Given the description of an element on the screen output the (x, y) to click on. 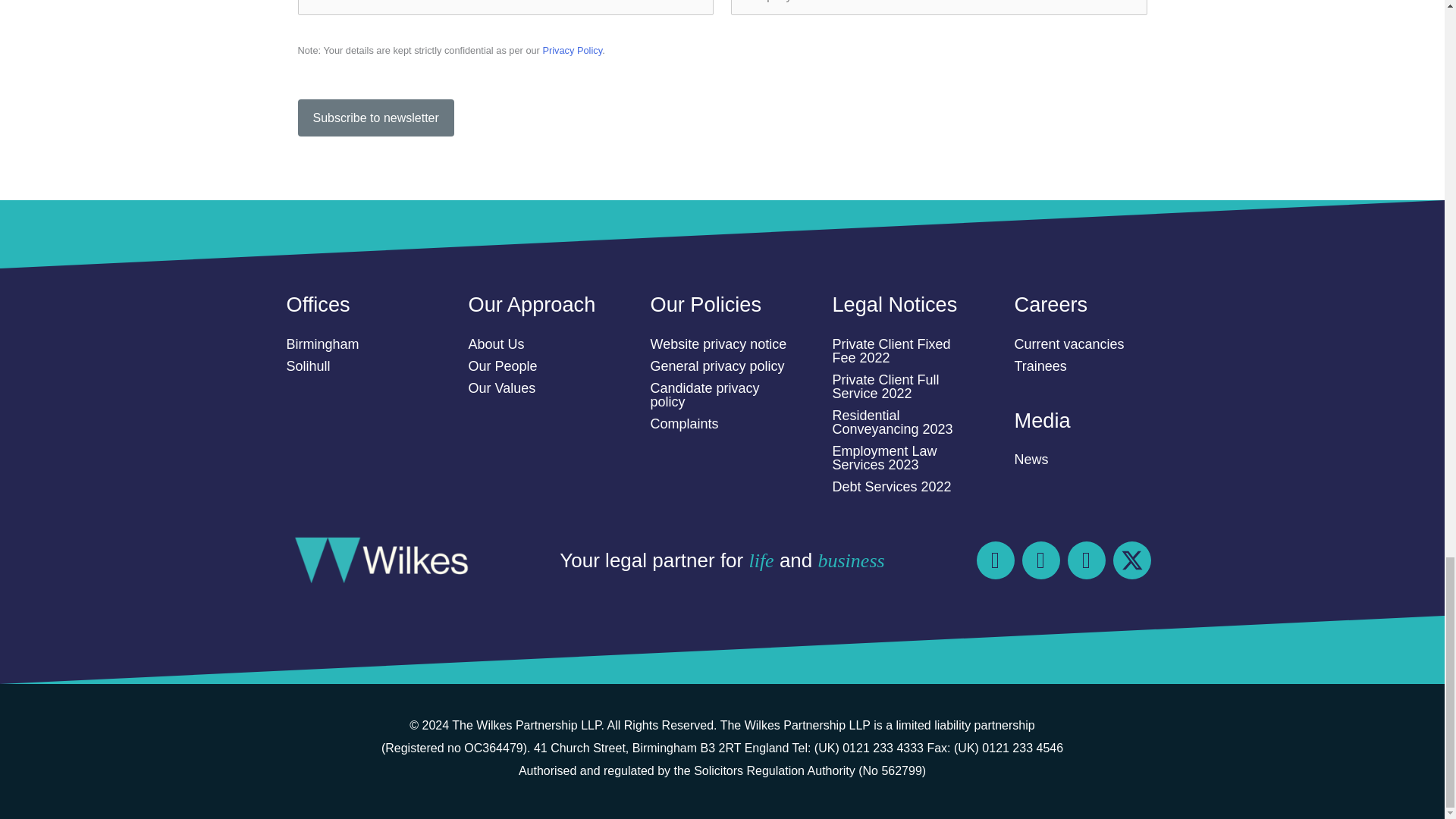
Subscribe to newsletter (374, 118)
Instagram (995, 560)
